Given the description of an element on the screen output the (x, y) to click on. 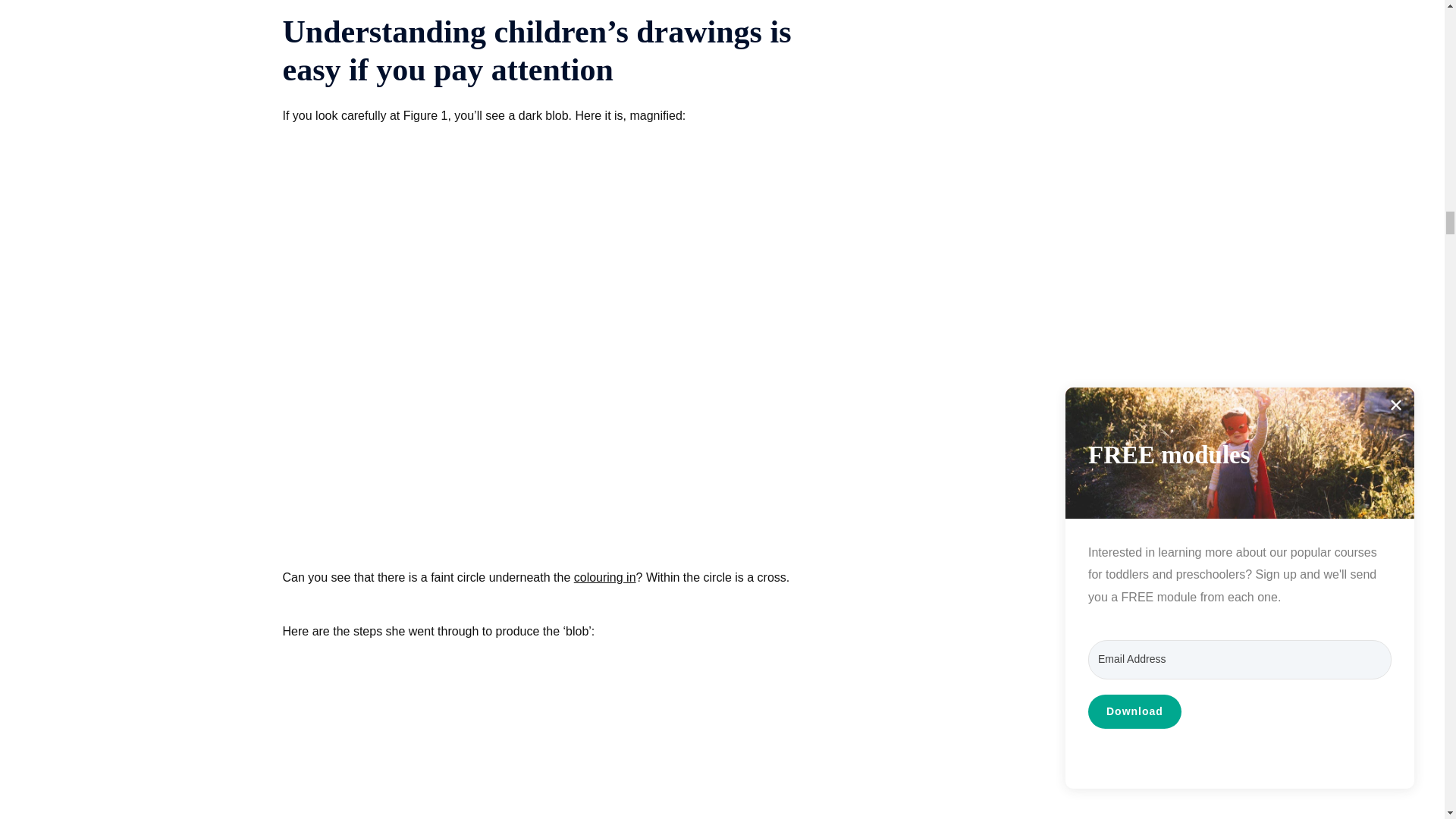
colouring in (604, 576)
